Given the description of an element on the screen output the (x, y) to click on. 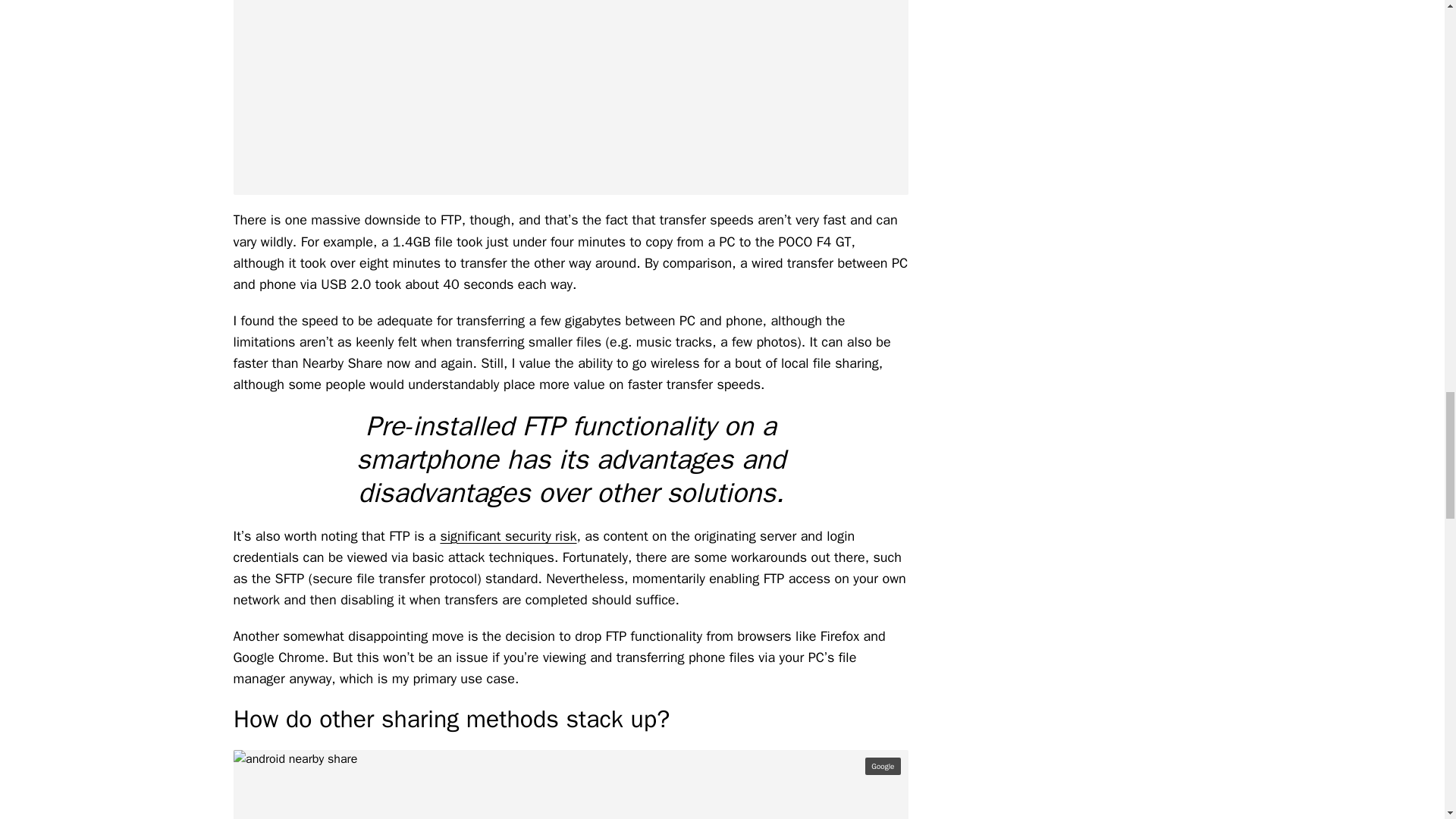
android nearby share (570, 784)
Xiaomi FTP on tablet (570, 97)
significant security risk (507, 535)
